Given the description of an element on the screen output the (x, y) to click on. 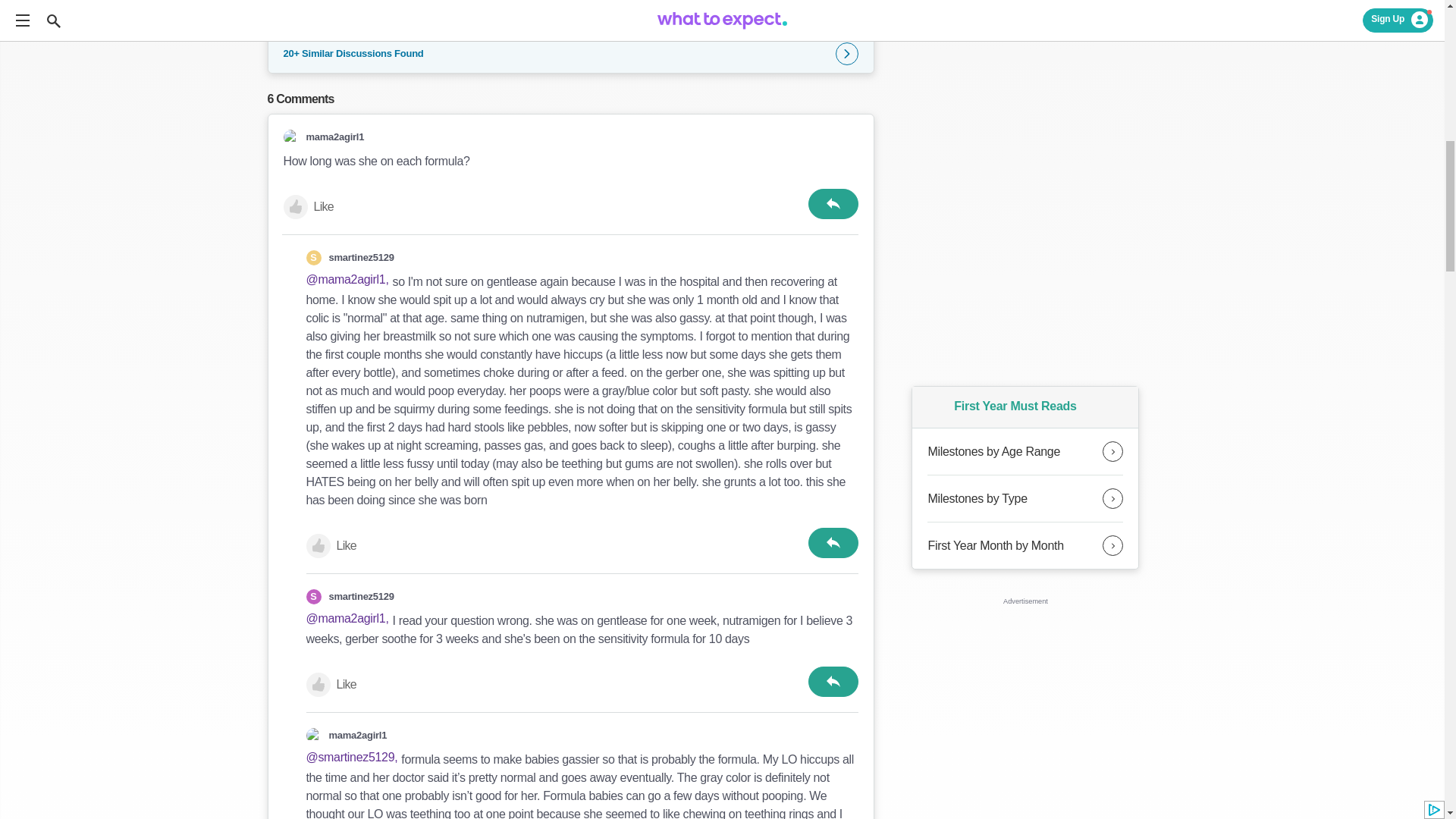
First Year Month by Month (1024, 545)
Milestones by Age Range (1024, 451)
Milestones by Type (1024, 498)
